Given the description of an element on the screen output the (x, y) to click on. 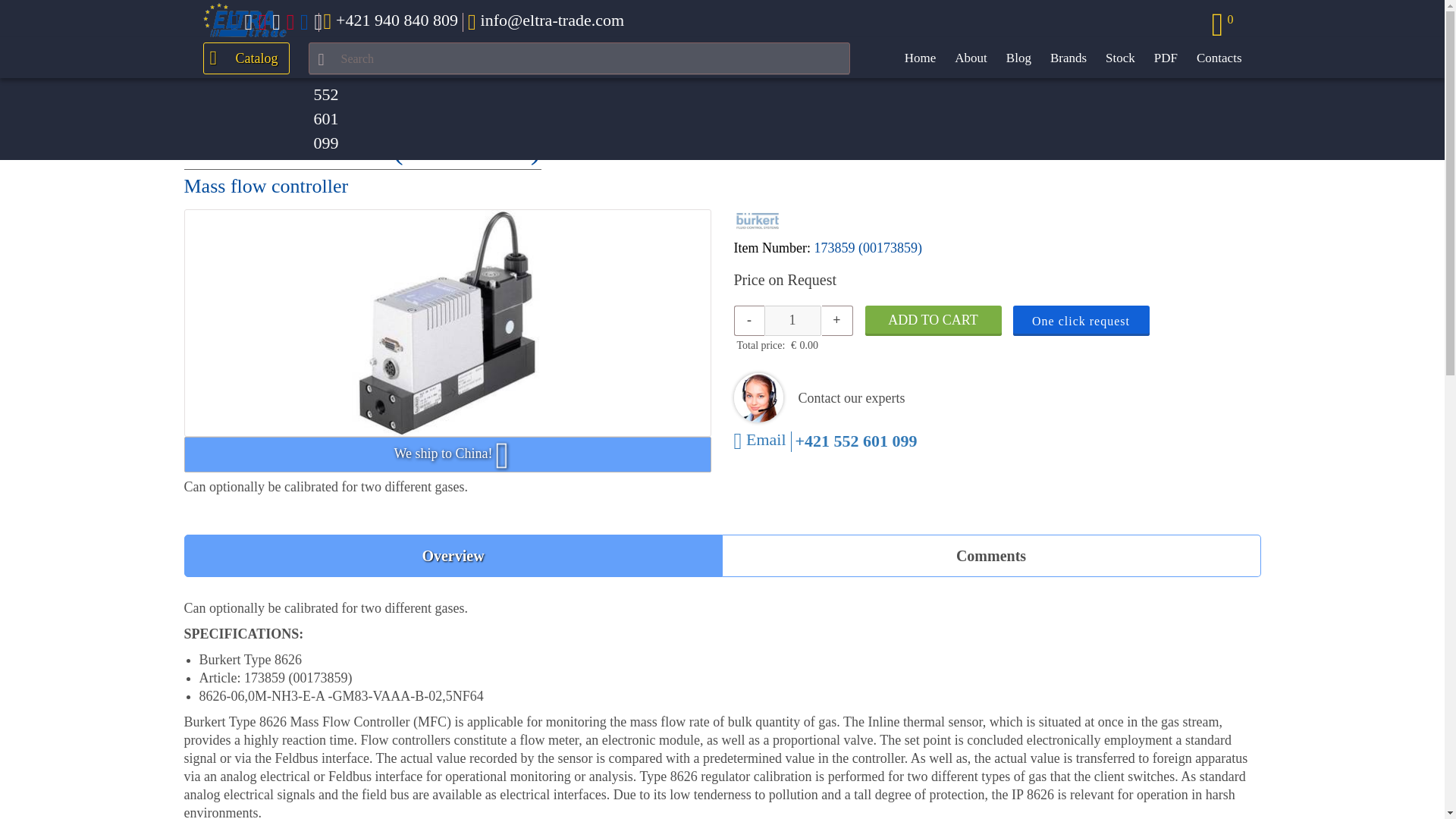
One click request (1081, 320)
Brands (1067, 57)
Burkert Mass Flow Controllers (507, 101)
1 (792, 320)
Email (759, 443)
Burkert Sensors (366, 101)
PDF (1165, 57)
About (971, 57)
Contacts (1218, 57)
Add to cart (932, 320)
